Given the description of an element on the screen output the (x, y) to click on. 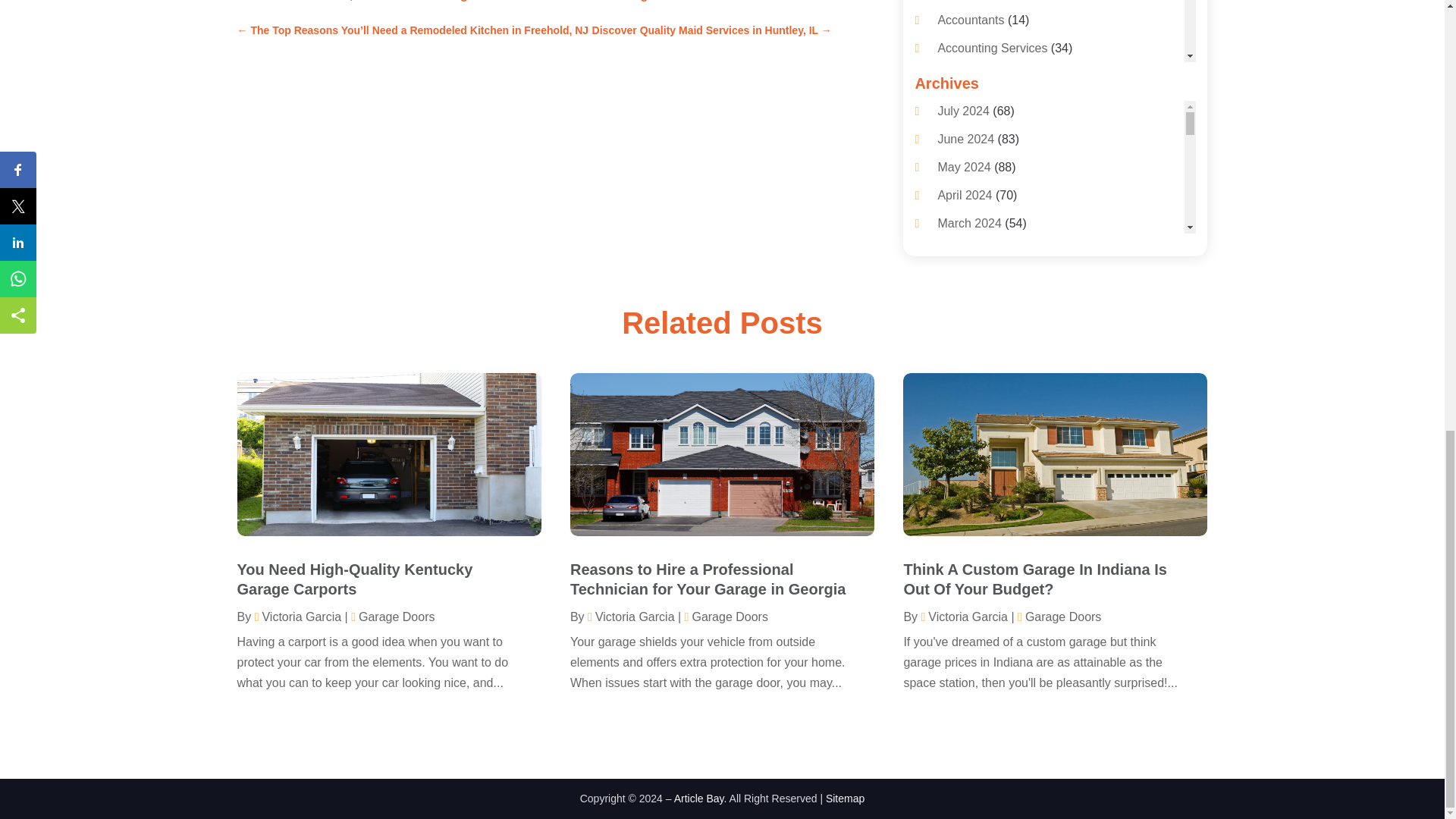
Adoption (961, 132)
Agencies (962, 273)
Posts by Victoria Garcia (297, 616)
Adult Care (965, 160)
Accounting Services (991, 47)
Accountants (970, 19)
Advertising Agency (989, 245)
Acupuncture (971, 76)
Posts by Victoria Garcia (963, 616)
Posts by Victoria Garcia (631, 616)
Addiction Treatment Center (1010, 104)
Adventures (967, 188)
